Given the description of an element on the screen output the (x, y) to click on. 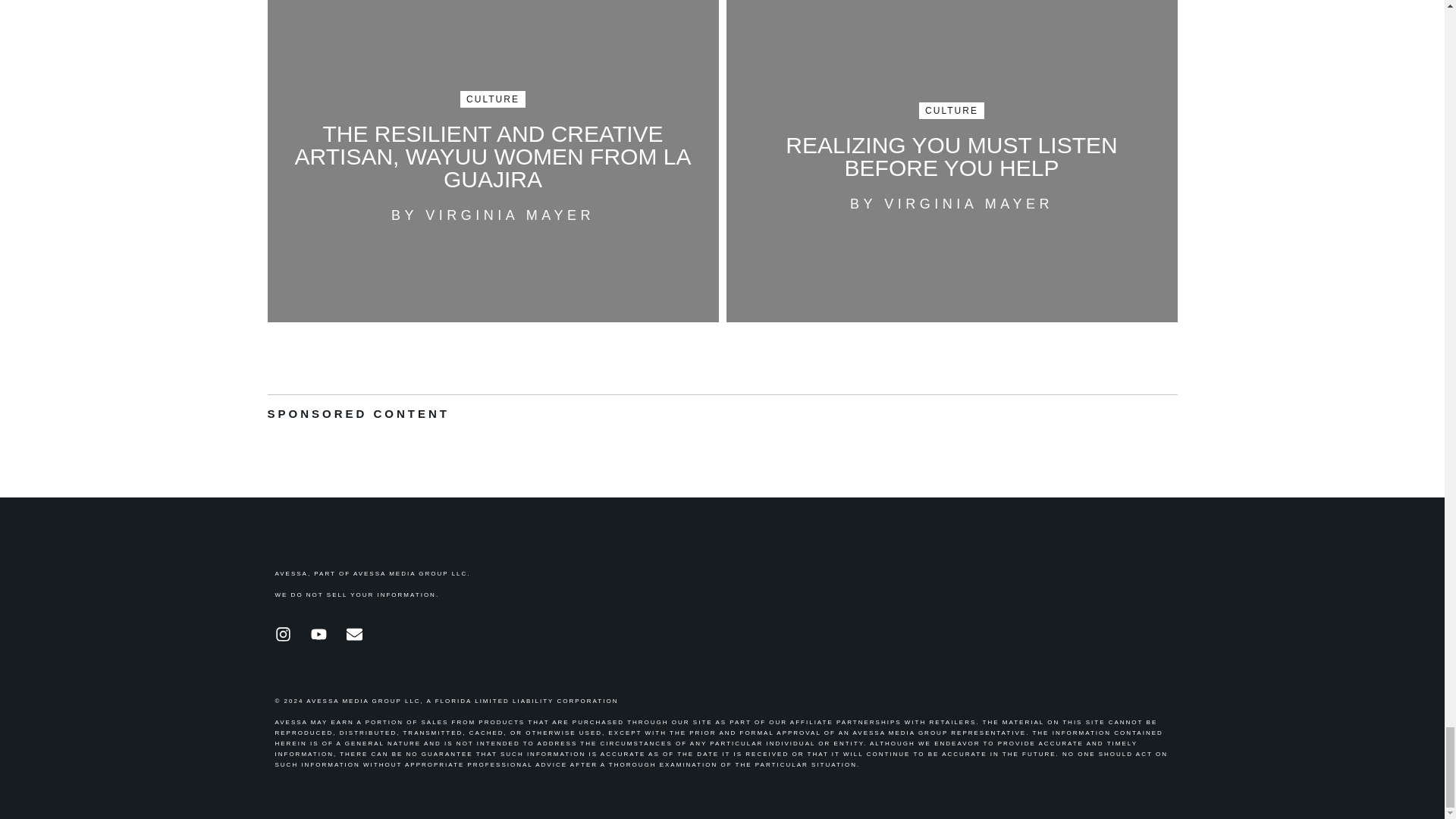
Instagram (290, 642)
REALIZING YOU MUST LISTEN BEFORE YOU HELP (951, 156)
